Given the description of an element on the screen output the (x, y) to click on. 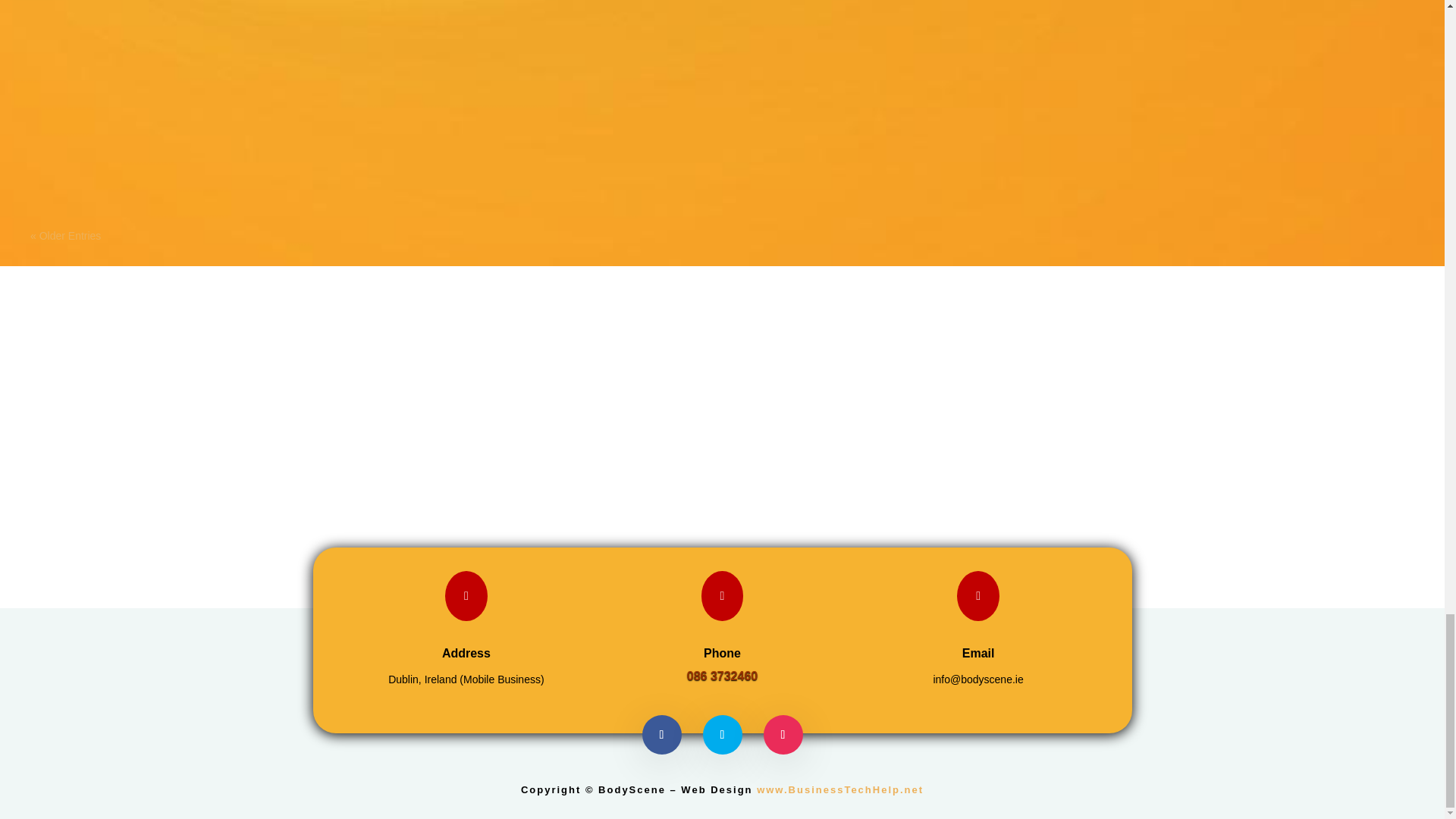
Follow on Facebook (661, 734)
Follow on Instagram (782, 734)
Follow on Twitter (721, 734)
www.BusinessTechHelp.net (840, 789)
